Given the description of an element on the screen output the (x, y) to click on. 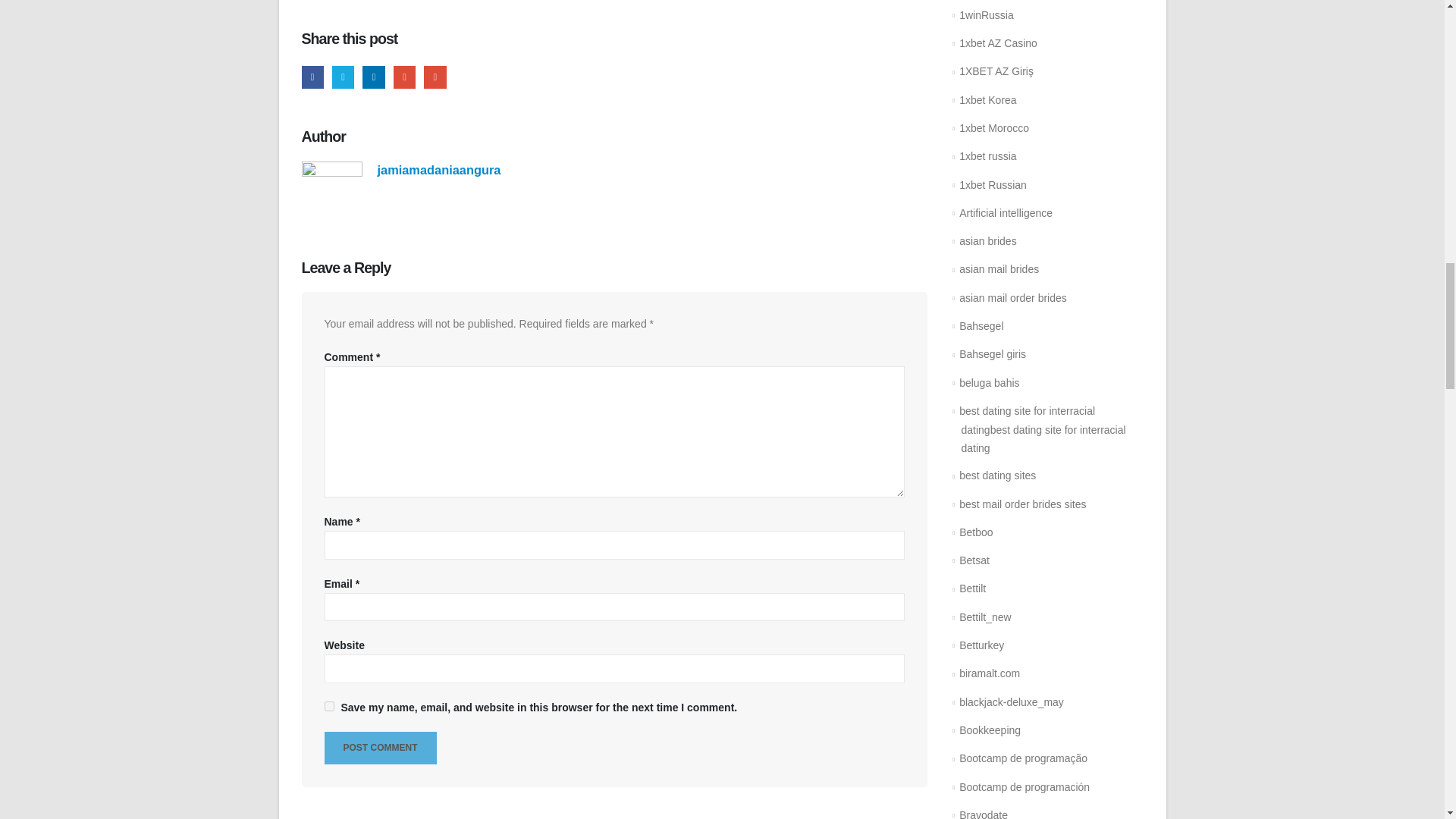
yes (329, 706)
Posts by jamiamadaniaangura (438, 169)
Post Comment (380, 748)
